Given the description of an element on the screen output the (x, y) to click on. 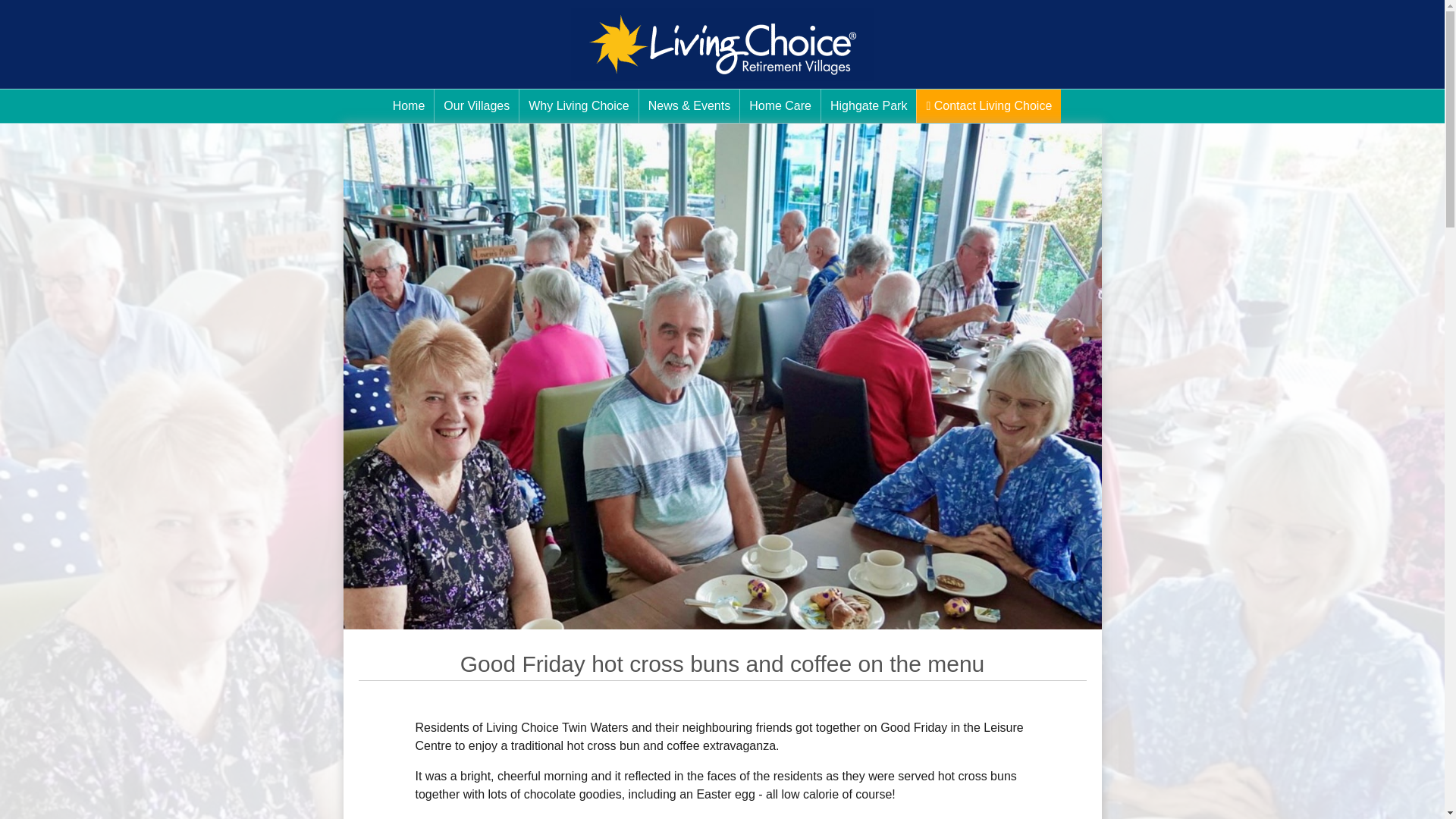
Highgate Park (868, 105)
Our Villages (475, 105)
Home (408, 105)
Contact Living Choice (989, 105)
LCA Retirement Villages Logo trans white text-01 (721, 44)
Why Living Choice (579, 105)
Home Care (780, 105)
